Given the description of an element on the screen output the (x, y) to click on. 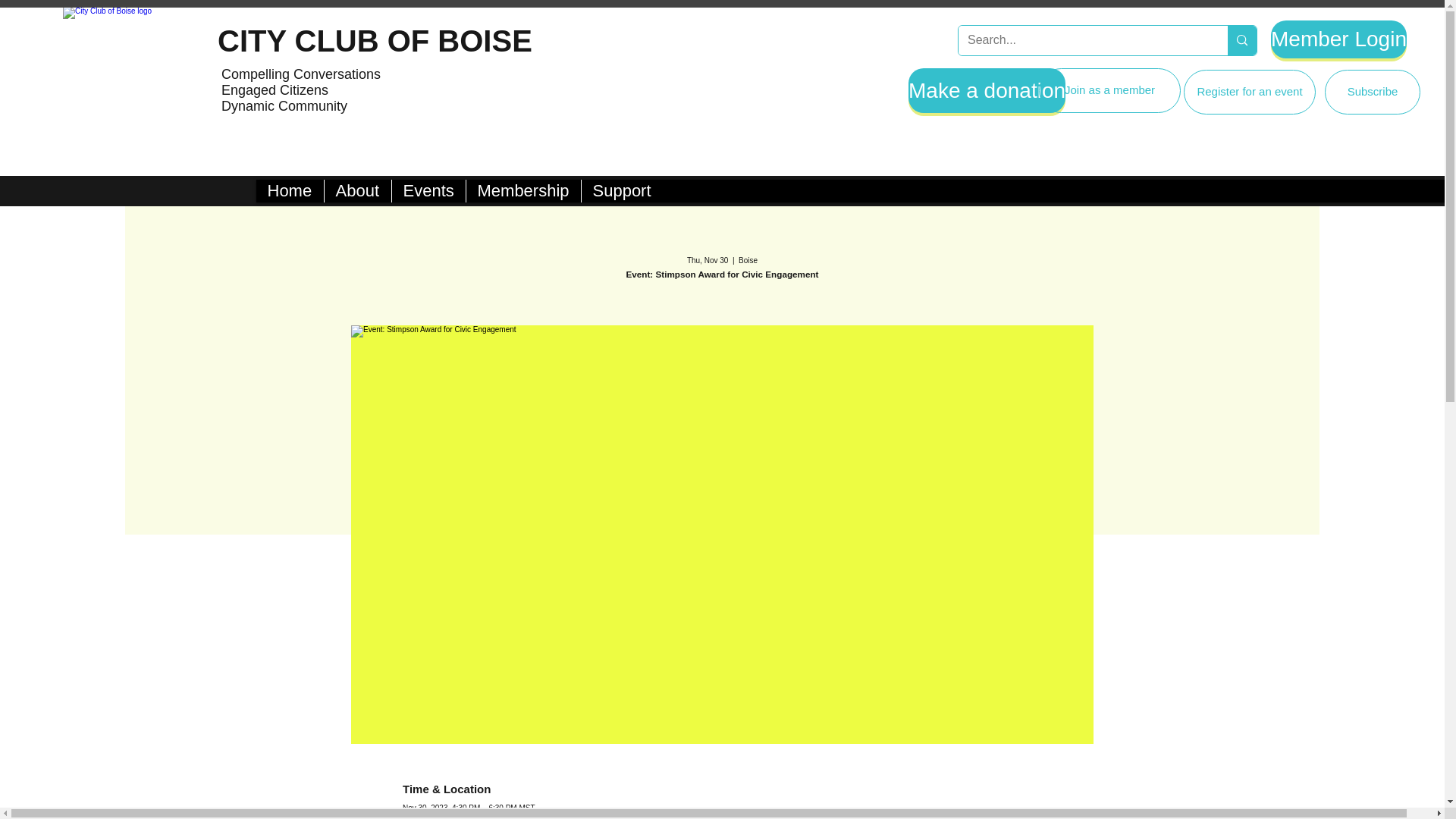
Home (289, 190)
Register for an event (1249, 91)
Subscribe (1372, 91)
Events (428, 190)
Make a donation (986, 90)
CITY CLUB OF BOISE (374, 40)
Member Login (1338, 39)
About (356, 190)
Support (621, 190)
Membership (522, 190)
